Given the description of an element on the screen output the (x, y) to click on. 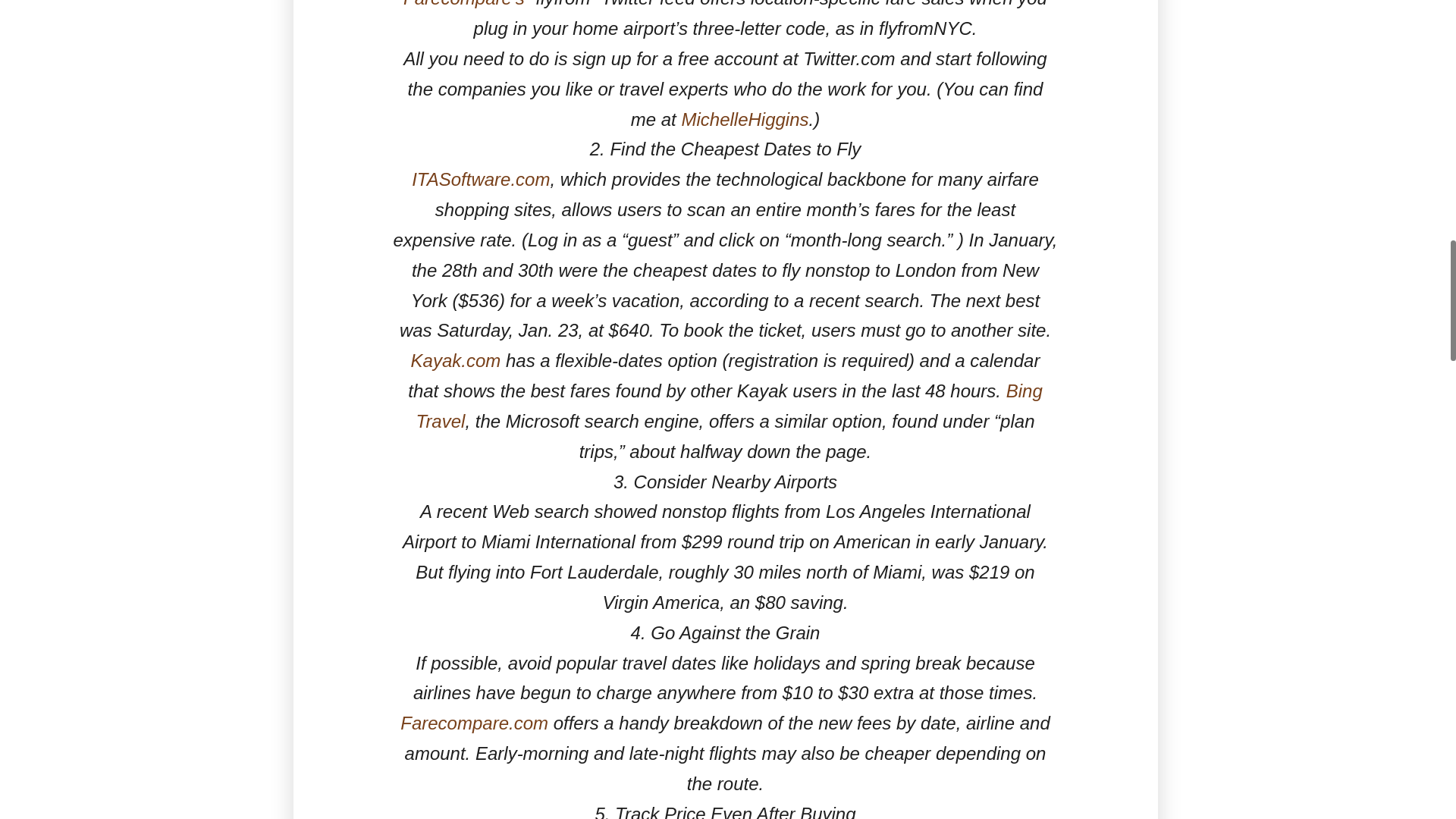
Kayak.com (455, 360)
MichelleHiggins (744, 118)
Farecompare.com (474, 722)
ITASoftware.com (481, 178)
Bing Travel (728, 405)
